Given the description of an element on the screen output the (x, y) to click on. 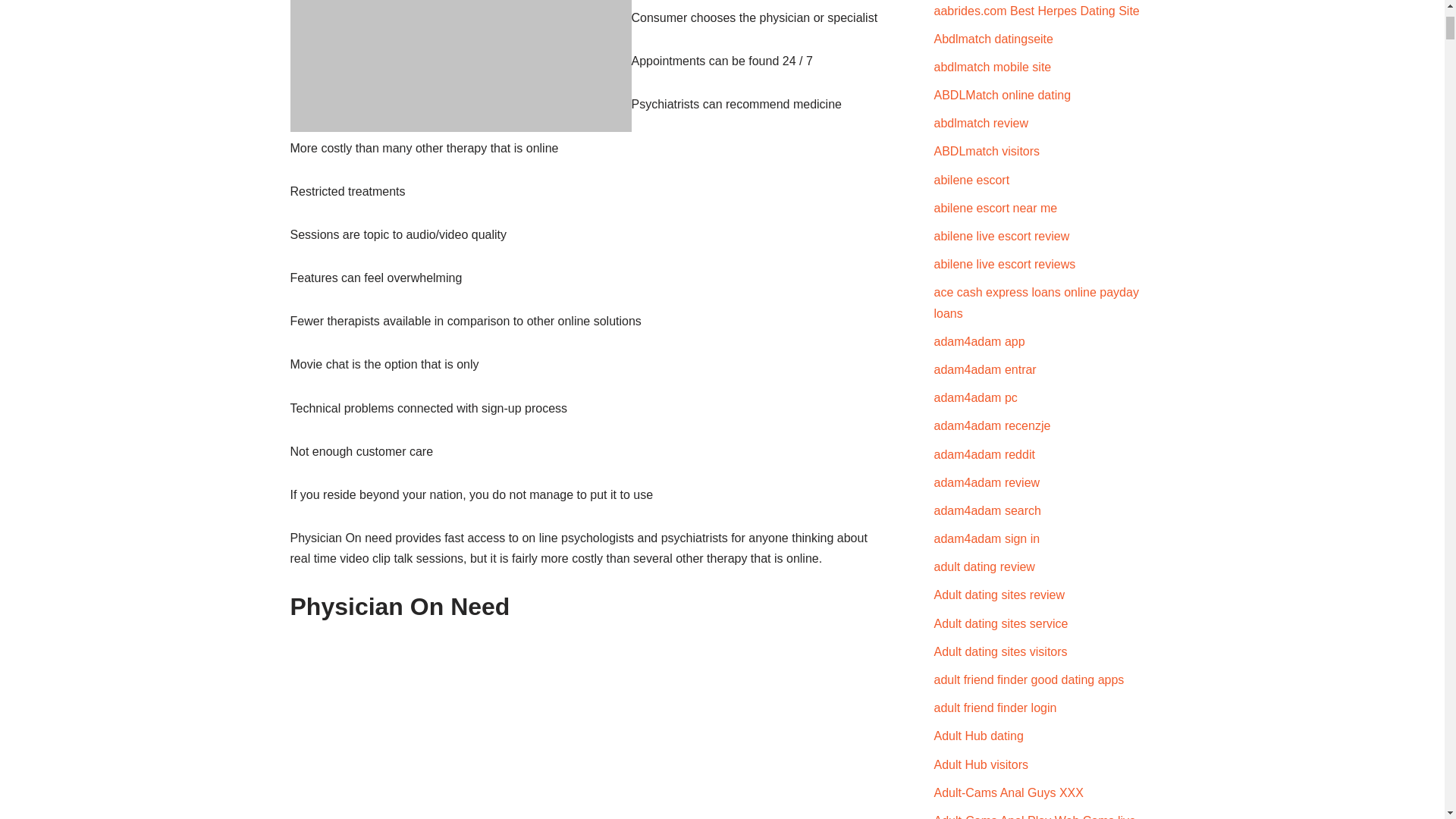
aabrides.com Best Herpes Dating Site (1037, 10)
abdlmatch mobile site (992, 66)
abdlmatch review (981, 123)
Abdlmatch datingseite (993, 38)
ABDLMatch online dating (1002, 94)
